Given the description of an element on the screen output the (x, y) to click on. 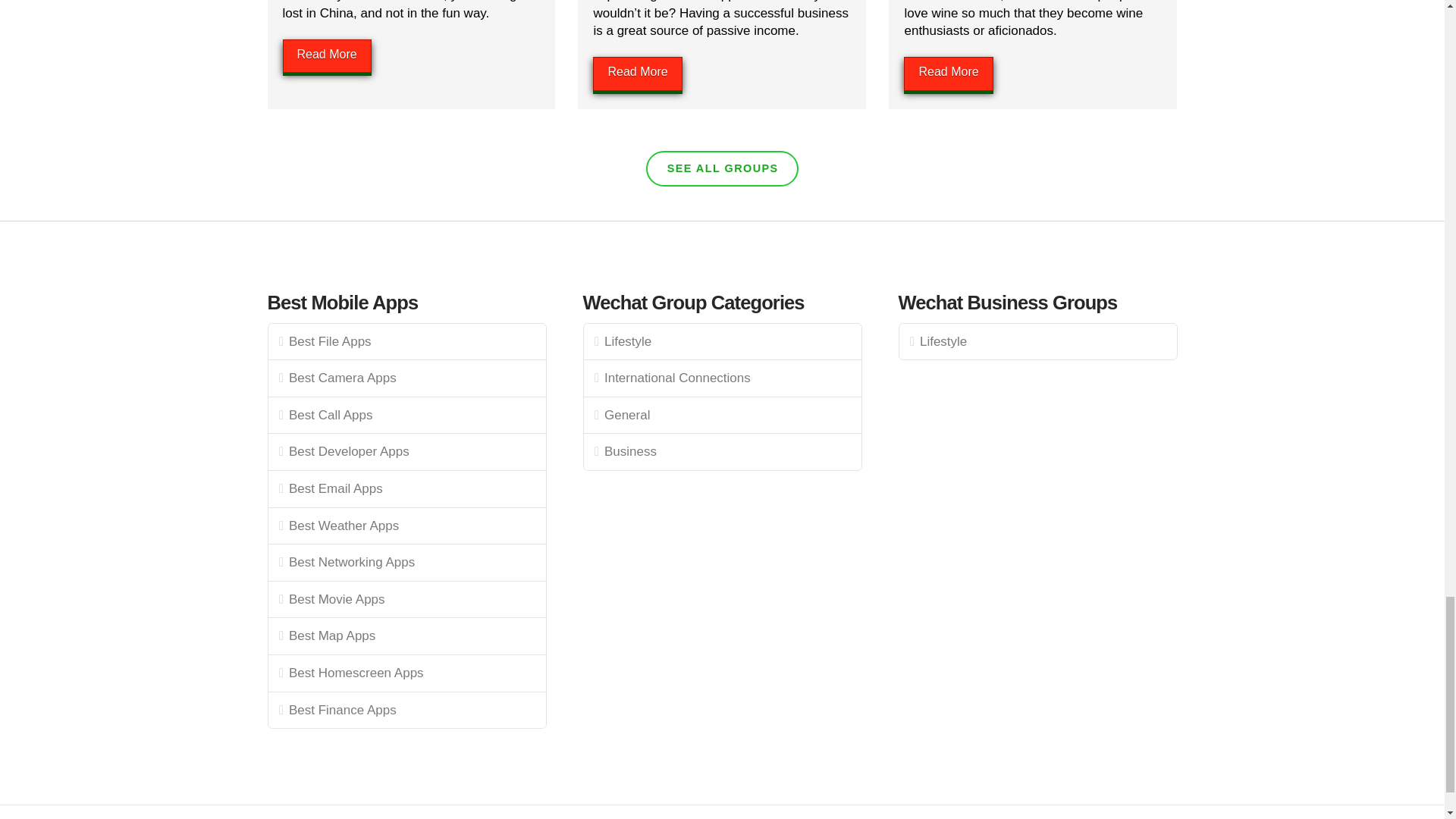
Read More (326, 56)
Read More (636, 73)
